Given the description of an element on the screen output the (x, y) to click on. 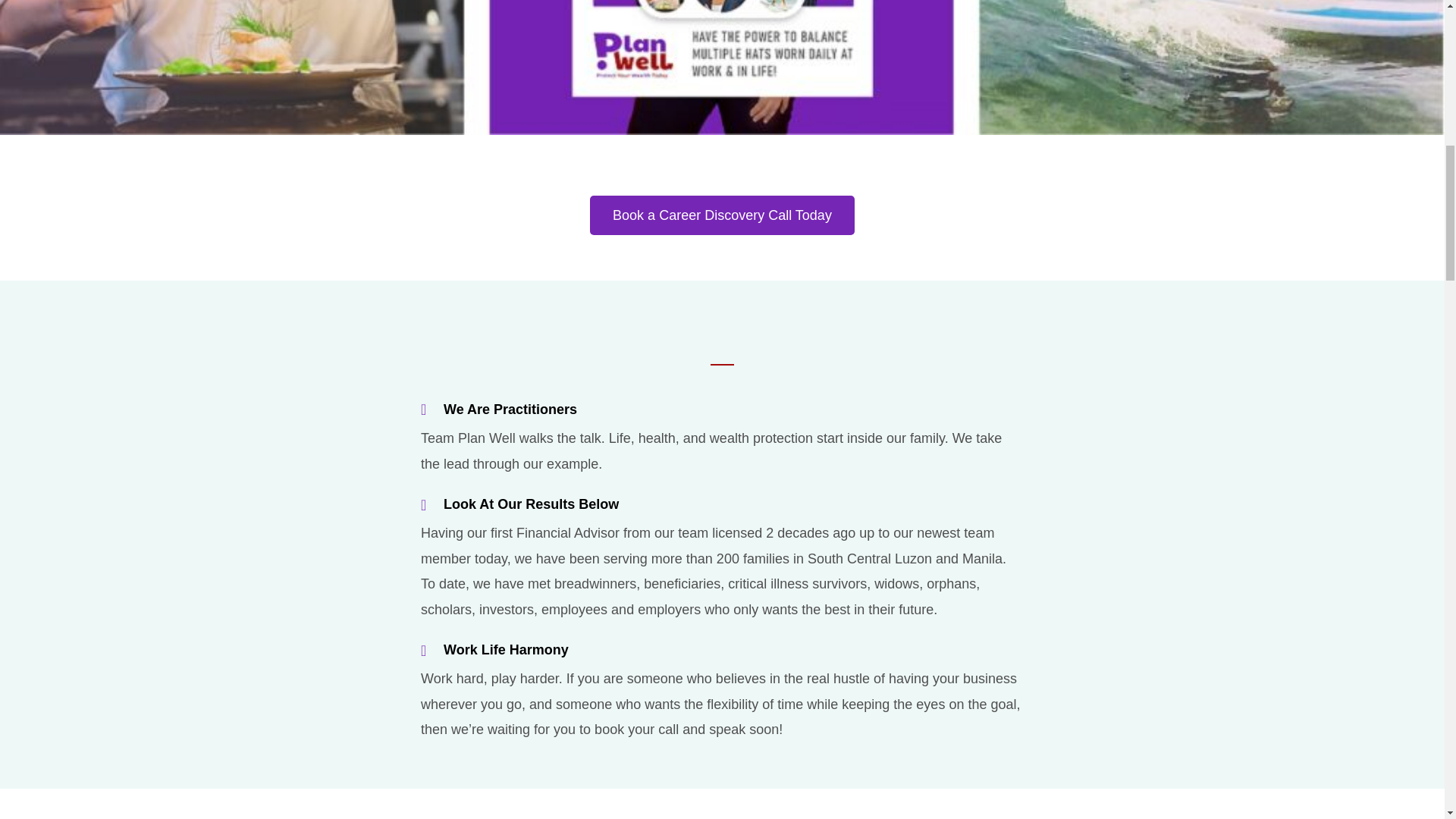
Book a Career Discovery Call Today (721, 215)
